Given the description of an element on the screen output the (x, y) to click on. 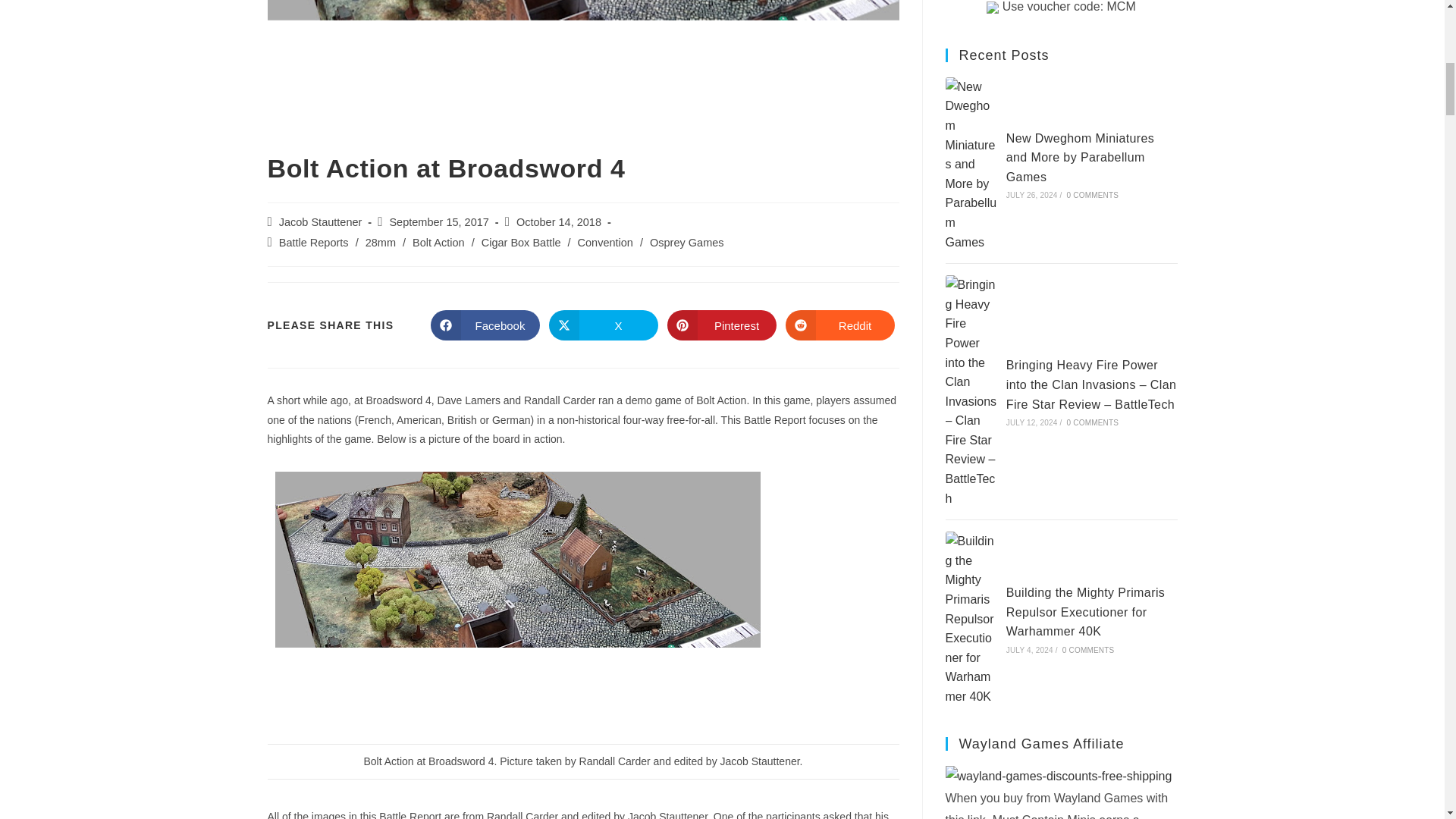
Bolt Action AAR - Table Picture (517, 603)
Posts by Jacob Stauttener (320, 222)
